Given the description of an element on the screen output the (x, y) to click on. 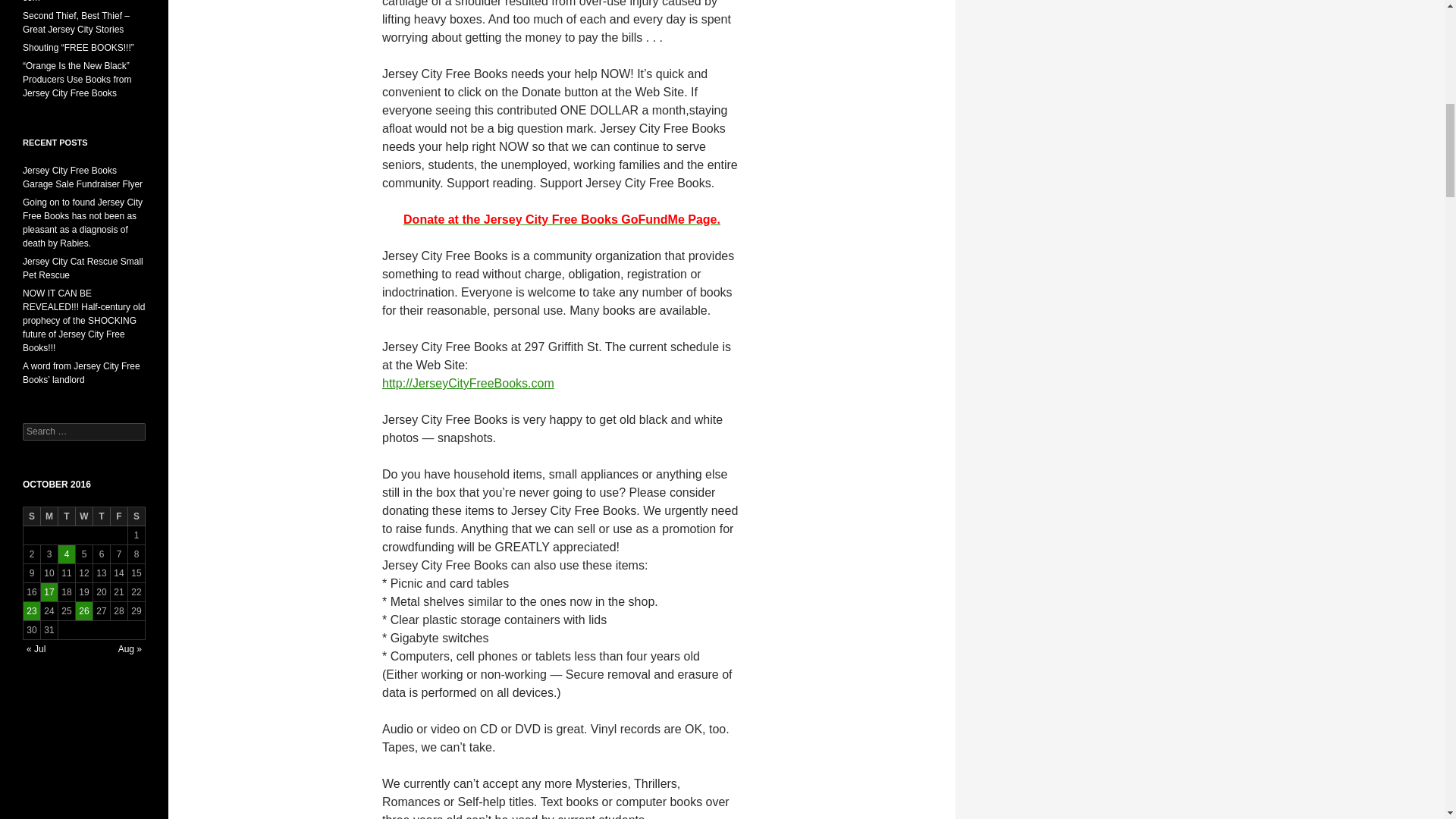
Friday (119, 516)
Tuesday (66, 516)
Donate at the Jersey City Free Books GoFundMe Page. (561, 219)
Sunday (31, 516)
Wednesday (84, 516)
Saturday (136, 516)
Thursday (101, 516)
Monday (49, 516)
